Given the description of an element on the screen output the (x, y) to click on. 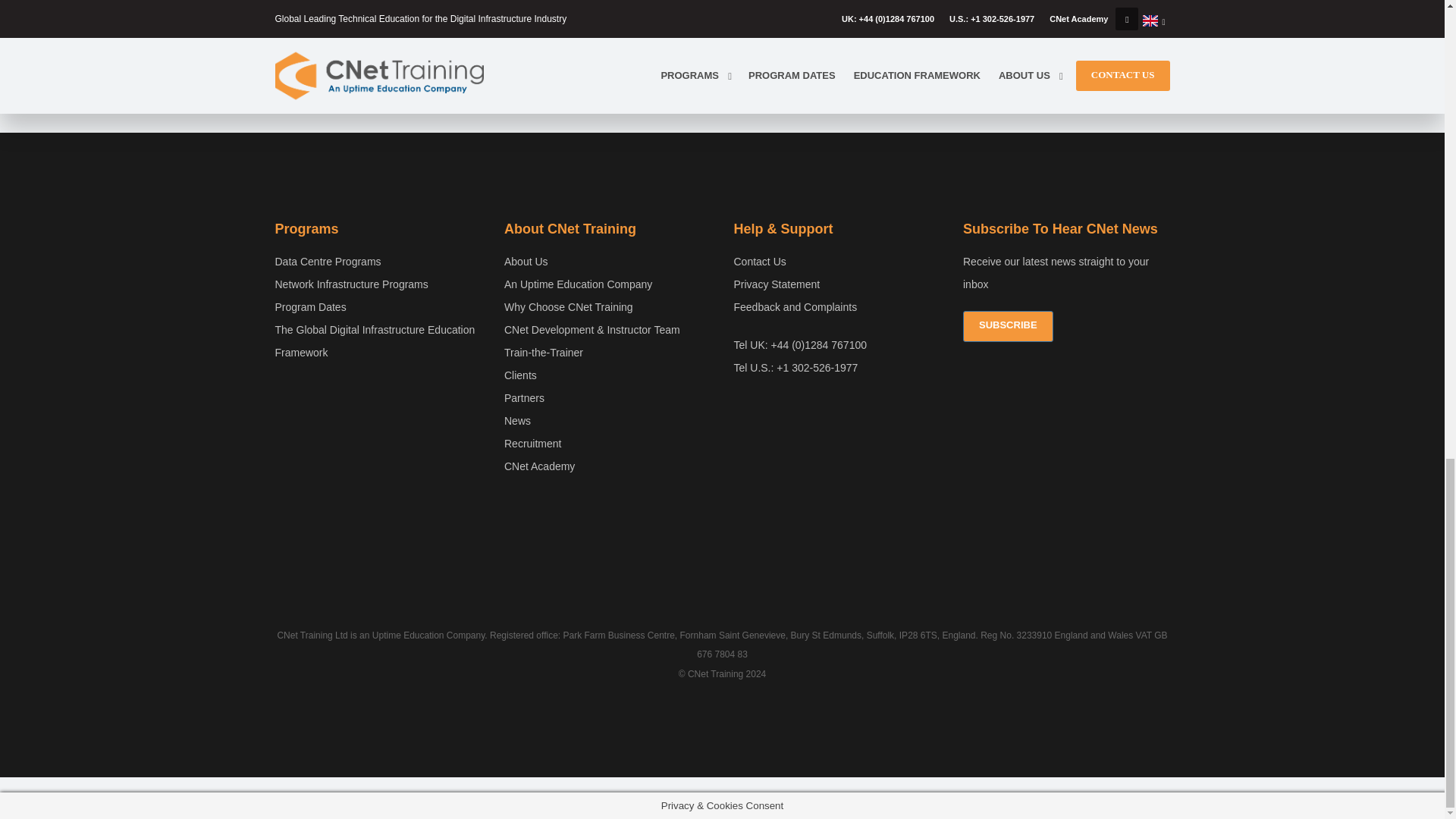
SHARE ON MAIL (338, 56)
Click me (836, 284)
SHARE ON FACEBOOK (1007, 326)
SHARE ON TWITTER (312, 56)
Sustainability (286, 56)
